Given the description of an element on the screen output the (x, y) to click on. 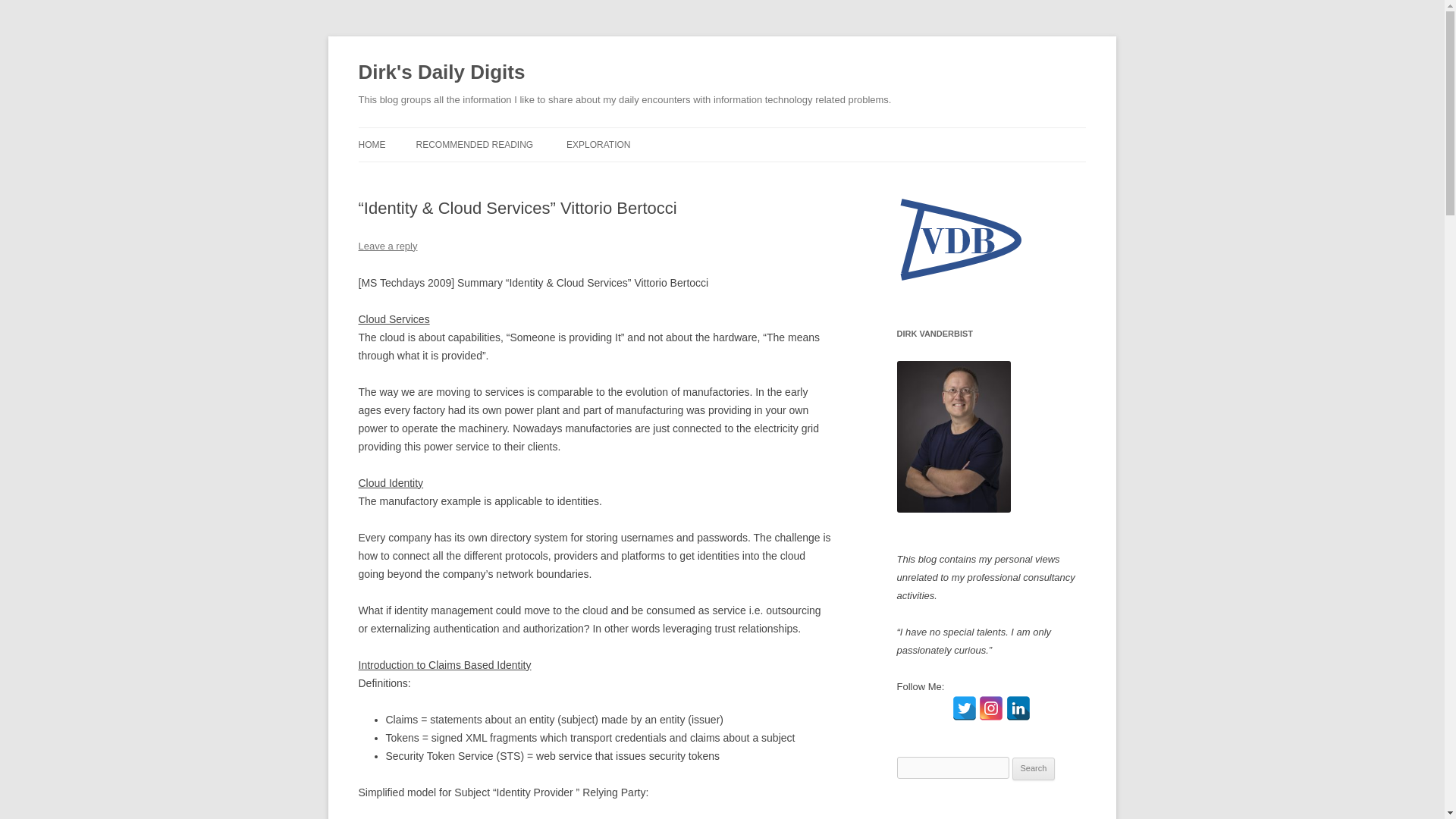
Instagram (990, 708)
Dirk's Daily Digits (441, 72)
Search (1033, 768)
EXPLORATION (598, 144)
Twitter (964, 708)
Leave a reply (387, 245)
RECOMMENDED READING (473, 144)
LinkedIn (1018, 708)
Search (1033, 768)
